Given the description of an element on the screen output the (x, y) to click on. 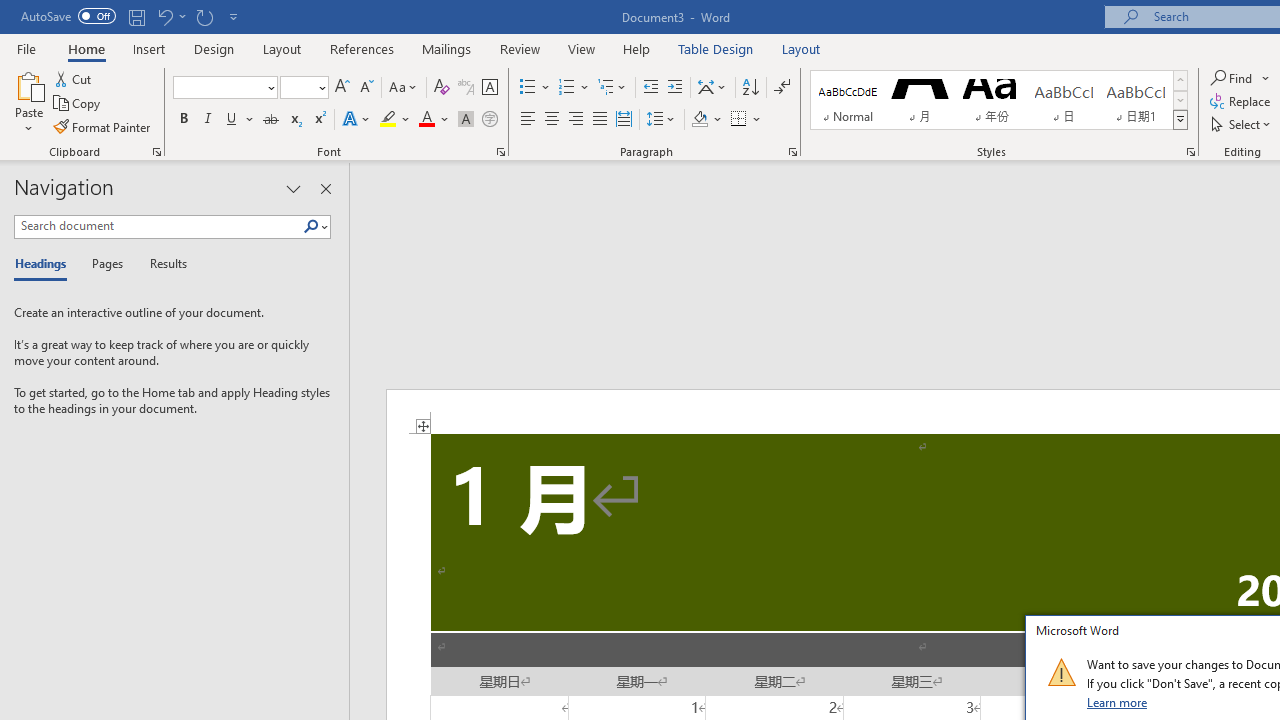
Line and Paragraph Spacing (661, 119)
Decrease Indent (650, 87)
Change Case (404, 87)
Character Border (489, 87)
Open (320, 87)
Asian Layout (712, 87)
Search document (157, 226)
